Given the description of an element on the screen output the (x, y) to click on. 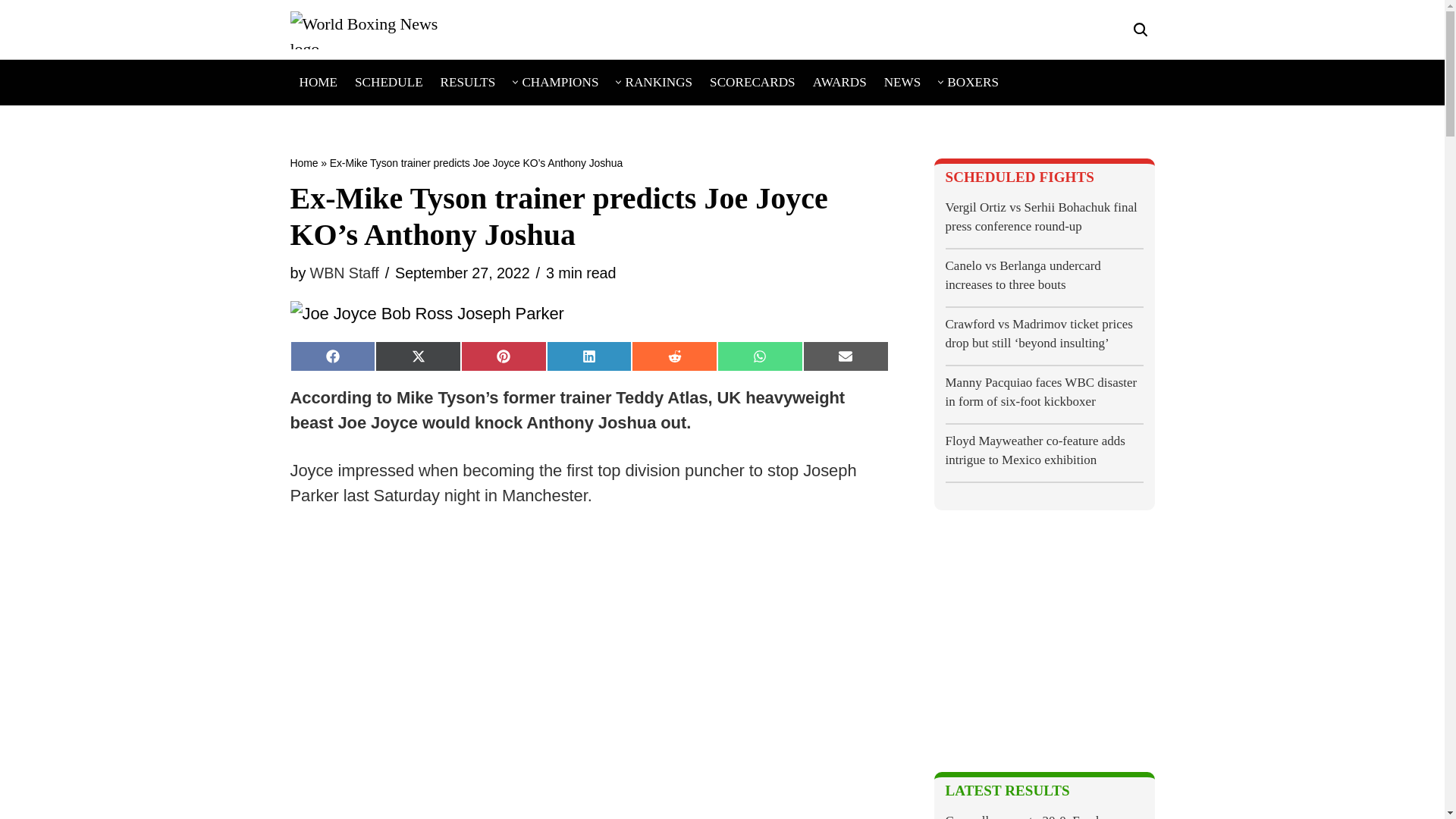
RESULTS (468, 81)
NEWS (902, 81)
RANKINGS (658, 81)
HOME (317, 81)
CHAMPIONS (559, 81)
AWARDS (839, 81)
SCORECARDS (752, 81)
Posts by WBN Staff (344, 272)
Skip to content (11, 31)
SCHEDULE (389, 81)
